Given the description of an element on the screen output the (x, y) to click on. 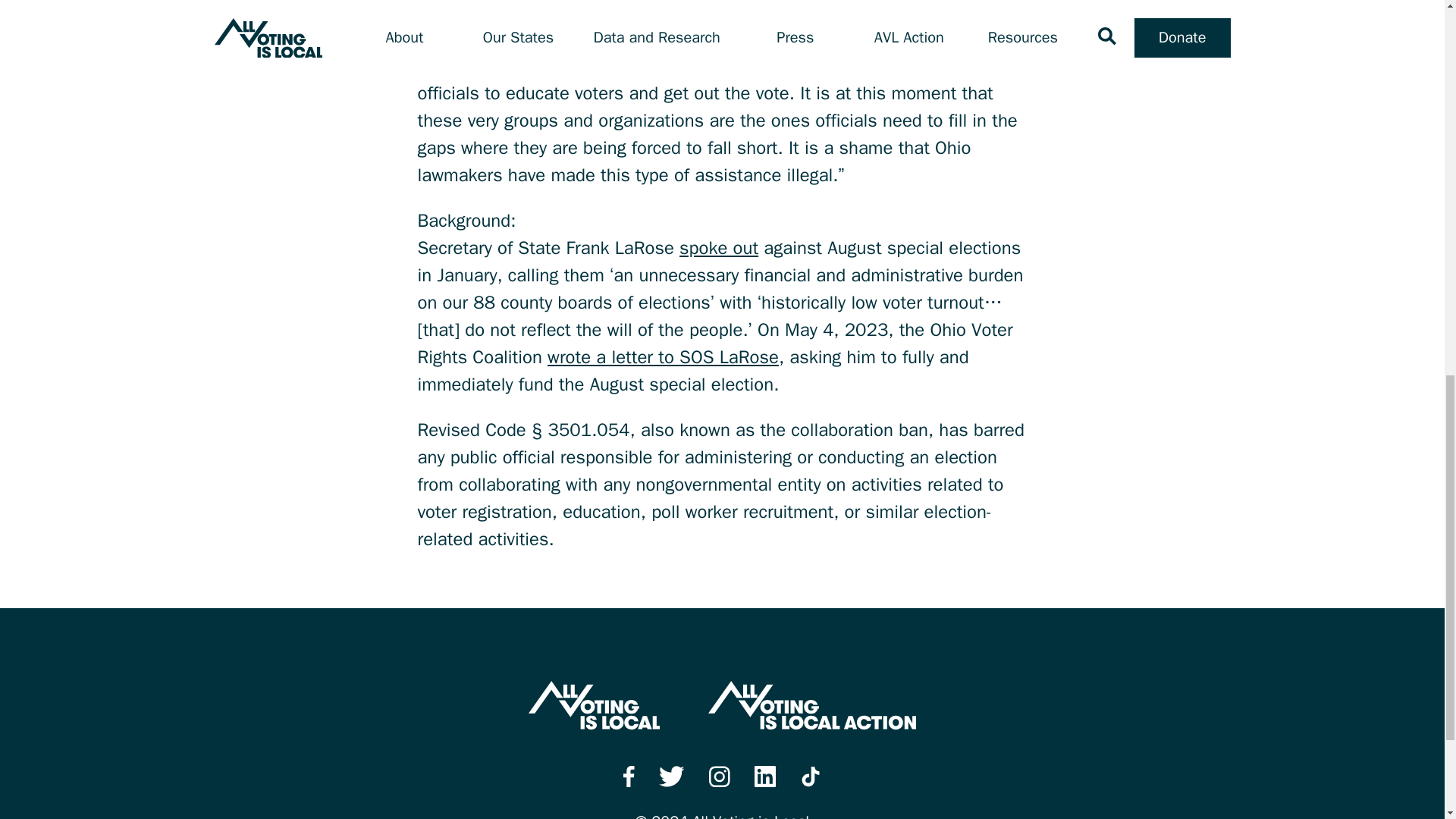
wrote a letter to SOS LaRose (662, 356)
collaboration ban (847, 11)
spoke out (718, 247)
